Given the description of an element on the screen output the (x, y) to click on. 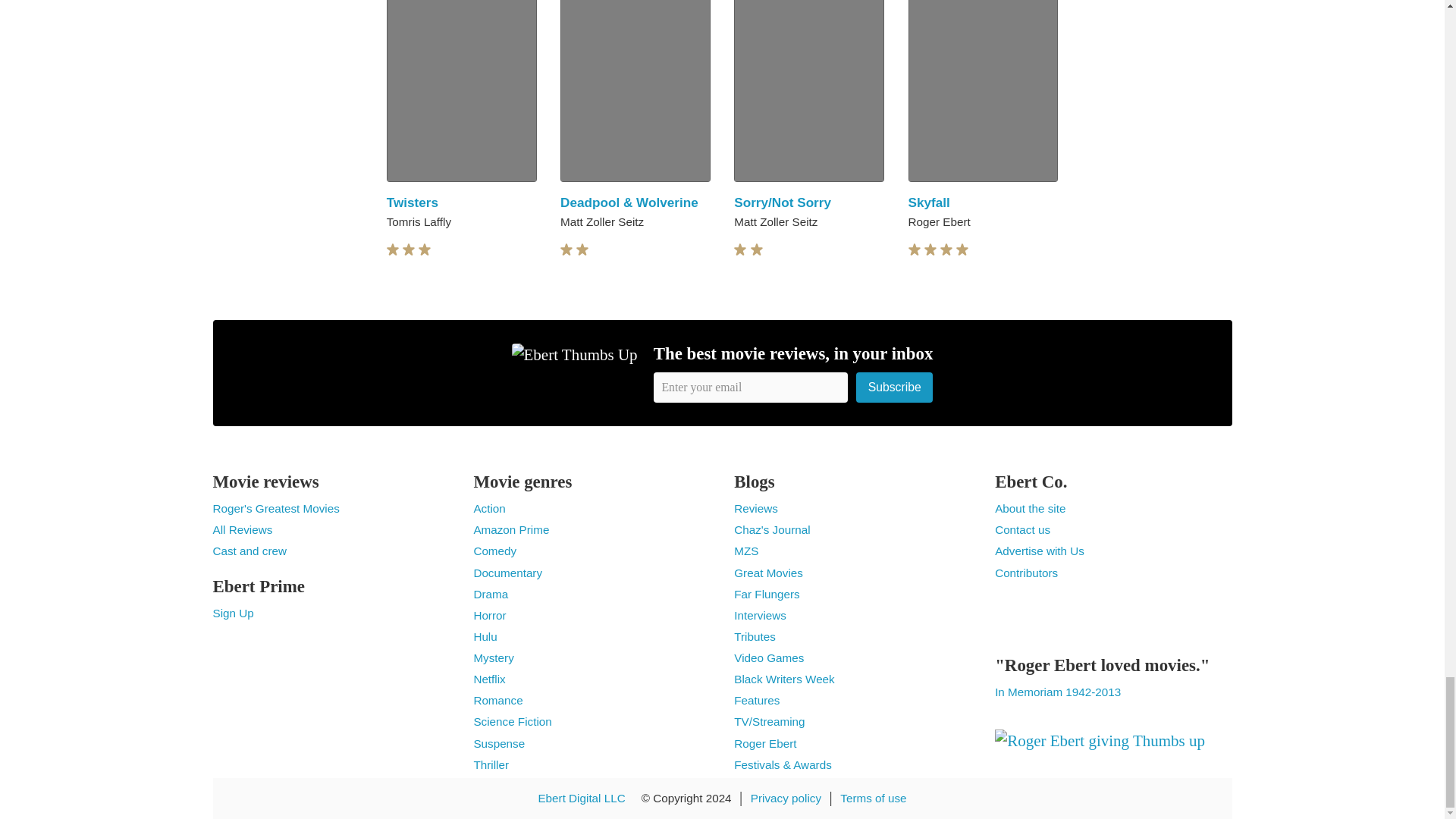
Subscribe (894, 387)
